Given the description of an element on the screen output the (x, y) to click on. 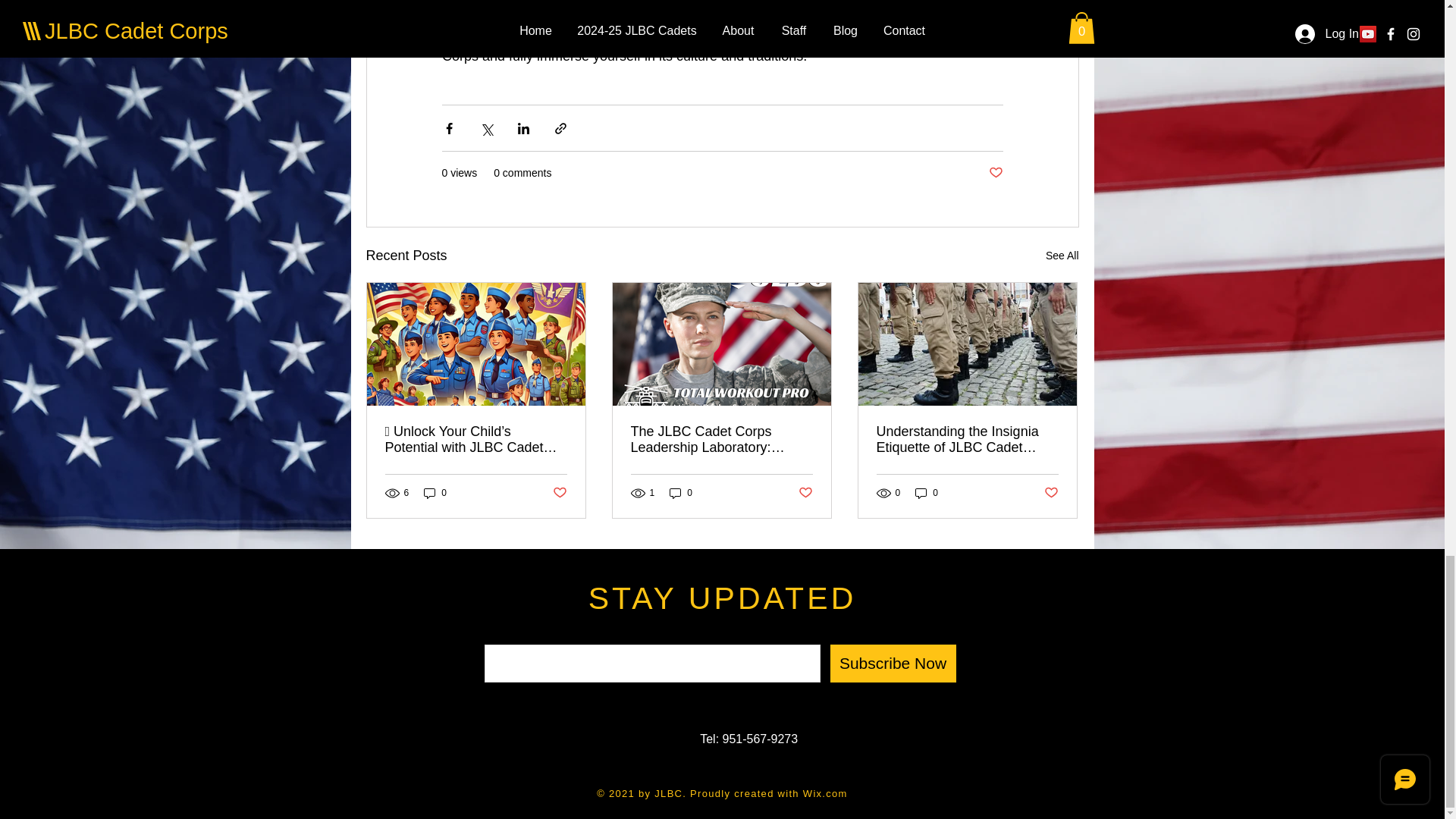
See All (1061, 255)
Post not marked as liked (995, 172)
